Given the description of an element on the screen output the (x, y) to click on. 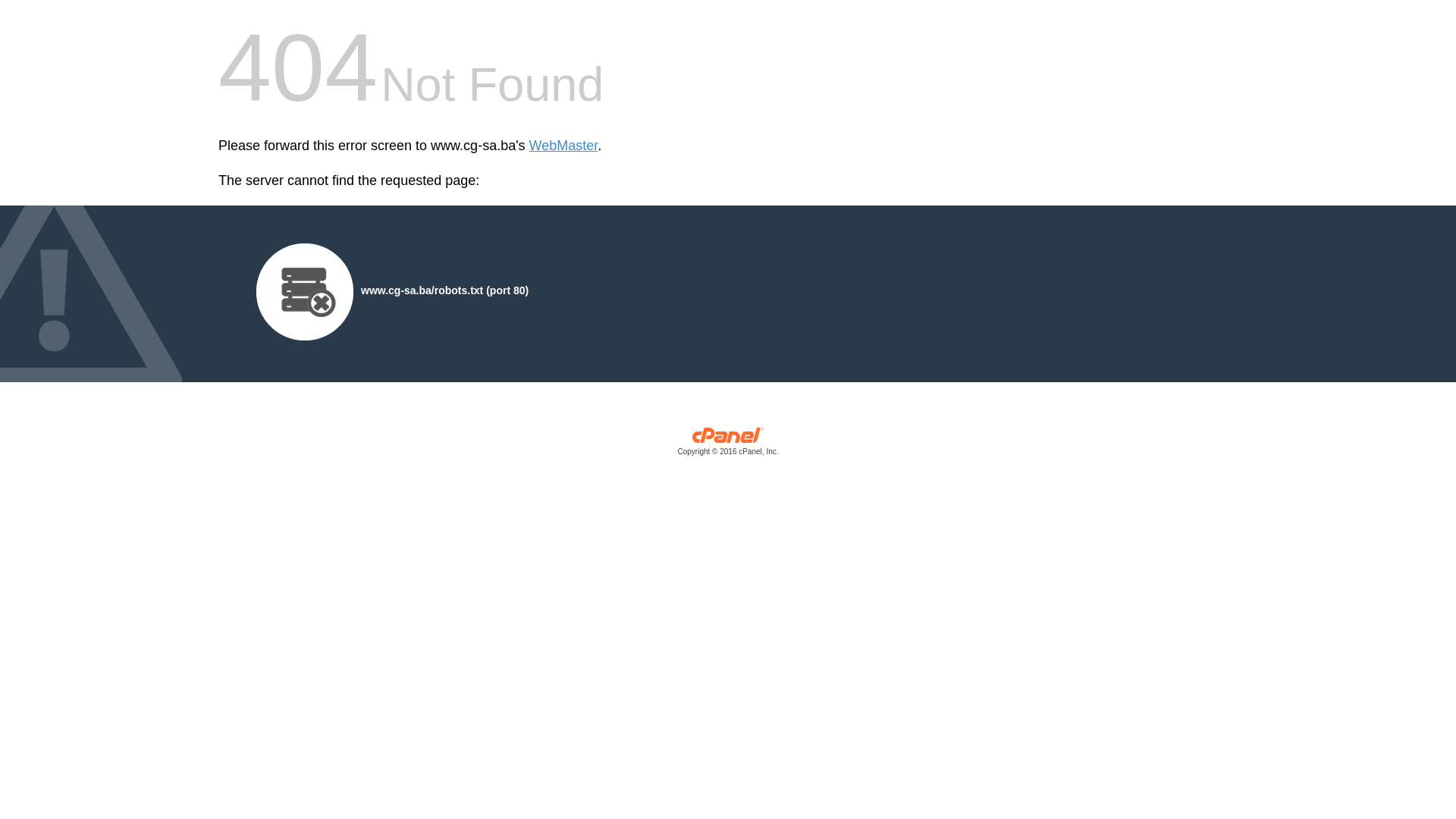
WebMaster Element type: text (563, 145)
